Given the description of an element on the screen output the (x, y) to click on. 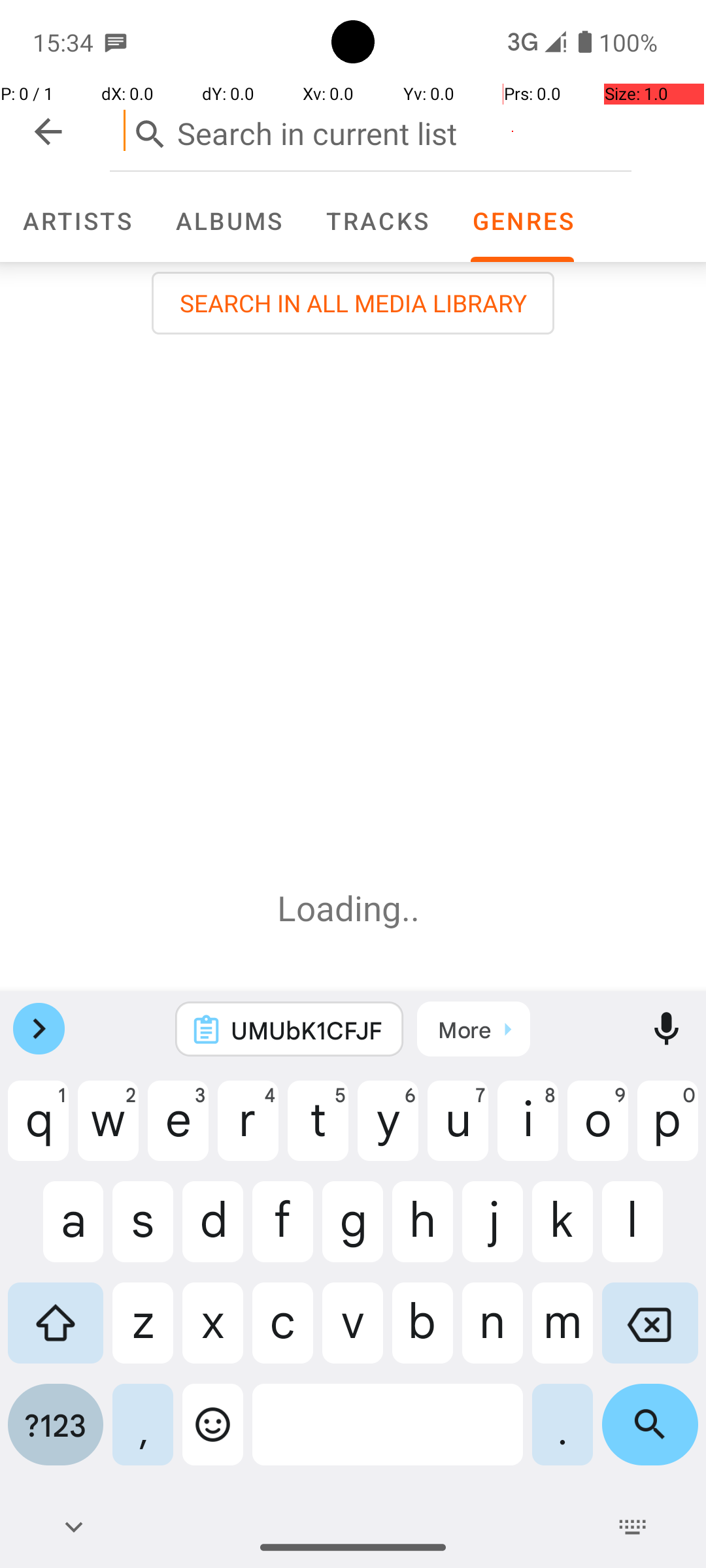
SEARCH IN ALL MEDIA LIBRARY Element type: android.widget.Button (352, 302)
.. Element type: android.widget.TextView (414, 907)
   Search in current list Element type: android.widget.AutoCompleteTextView (370, 130)
Genres Element type: android.widget.LinearLayout (521, 220)
ARTISTS Element type: android.widget.TextView (76, 220)
ALBUMS Element type: android.widget.TextView (227, 220)
TRACKS Element type: android.widget.TextView (376, 220)
GENRES Element type: android.widget.TextView (521, 220)
